Given the description of an element on the screen output the (x, y) to click on. 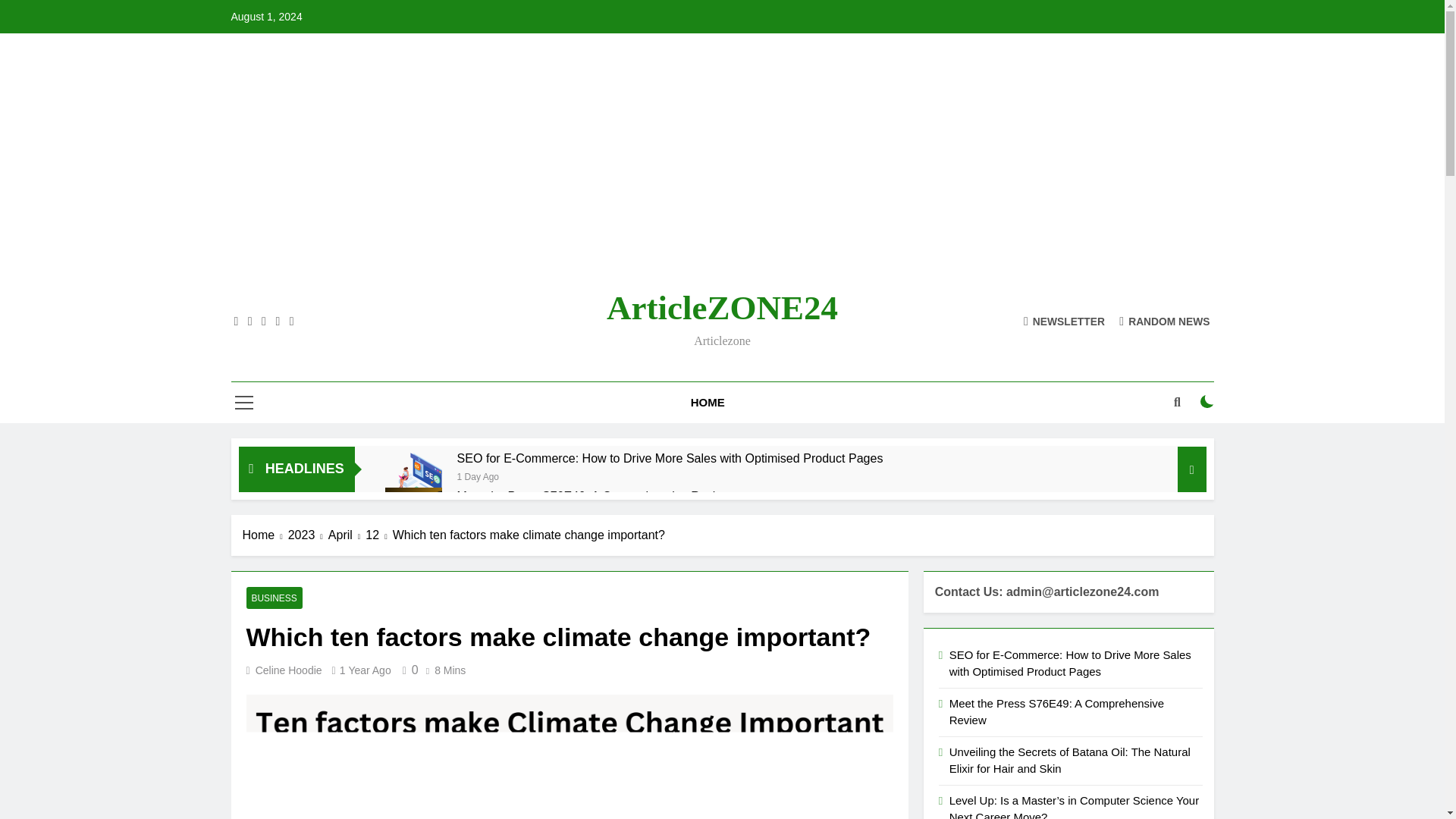
HOME (707, 174)
NEWSLETTER (1064, 92)
Meet the Press S76E49: A Comprehensive Review (593, 268)
Meet the Press S76E49: A Comprehensive Review (593, 268)
Home (265, 307)
ArticleZONE24 (722, 80)
RANDOM NEWS (1164, 92)
2 Days Ago (480, 247)
2023 (308, 307)
on (1206, 173)
Meet the Press S76E49: A Comprehensive Review (413, 288)
